Given the description of an element on the screen output the (x, y) to click on. 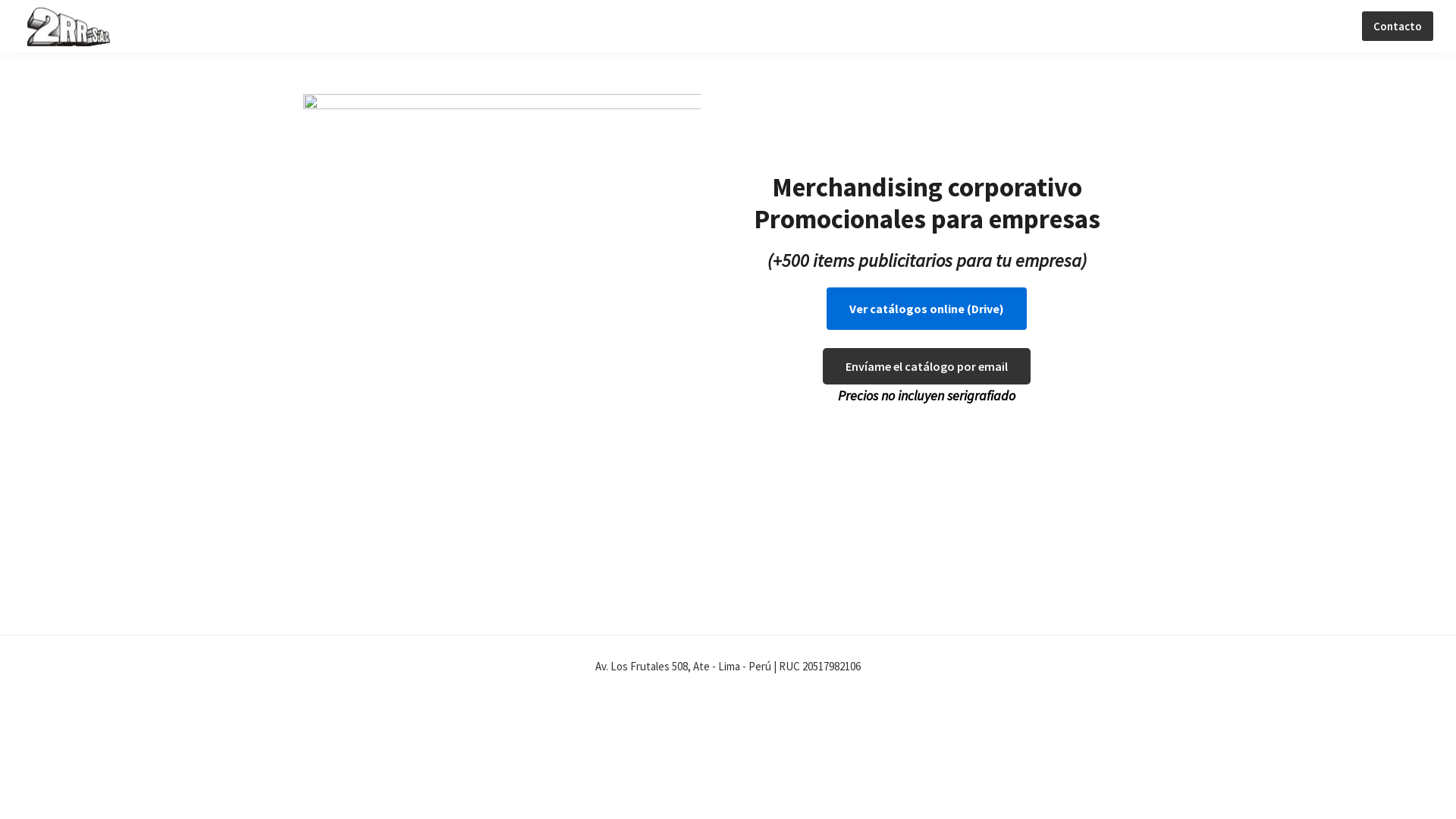
Contacto Element type: text (1397, 25)
